Given the description of an element on the screen output the (x, y) to click on. 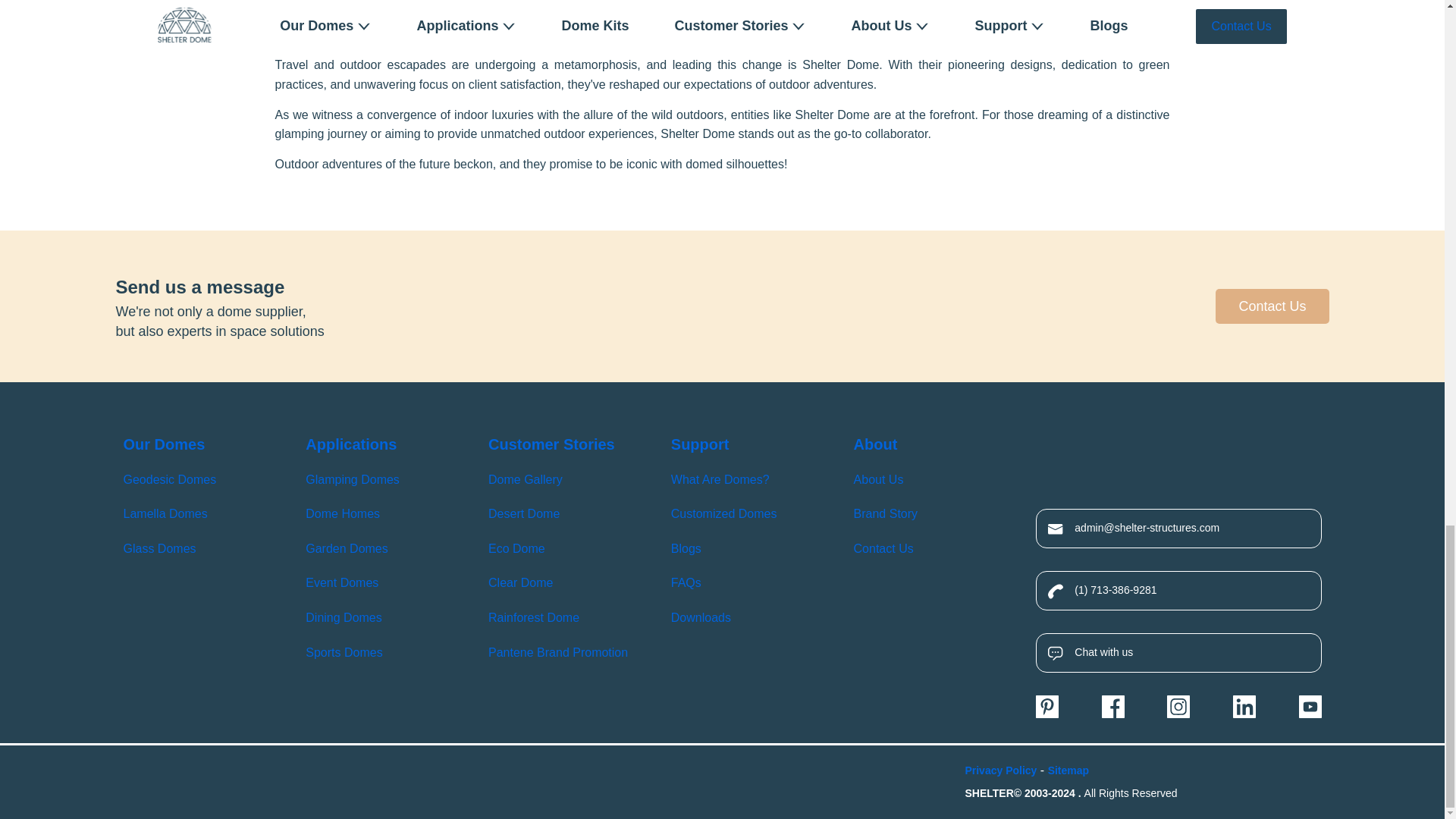
Geodesic Domes (168, 479)
Our Domes (163, 444)
Contact Us (1271, 306)
